Given the description of an element on the screen output the (x, y) to click on. 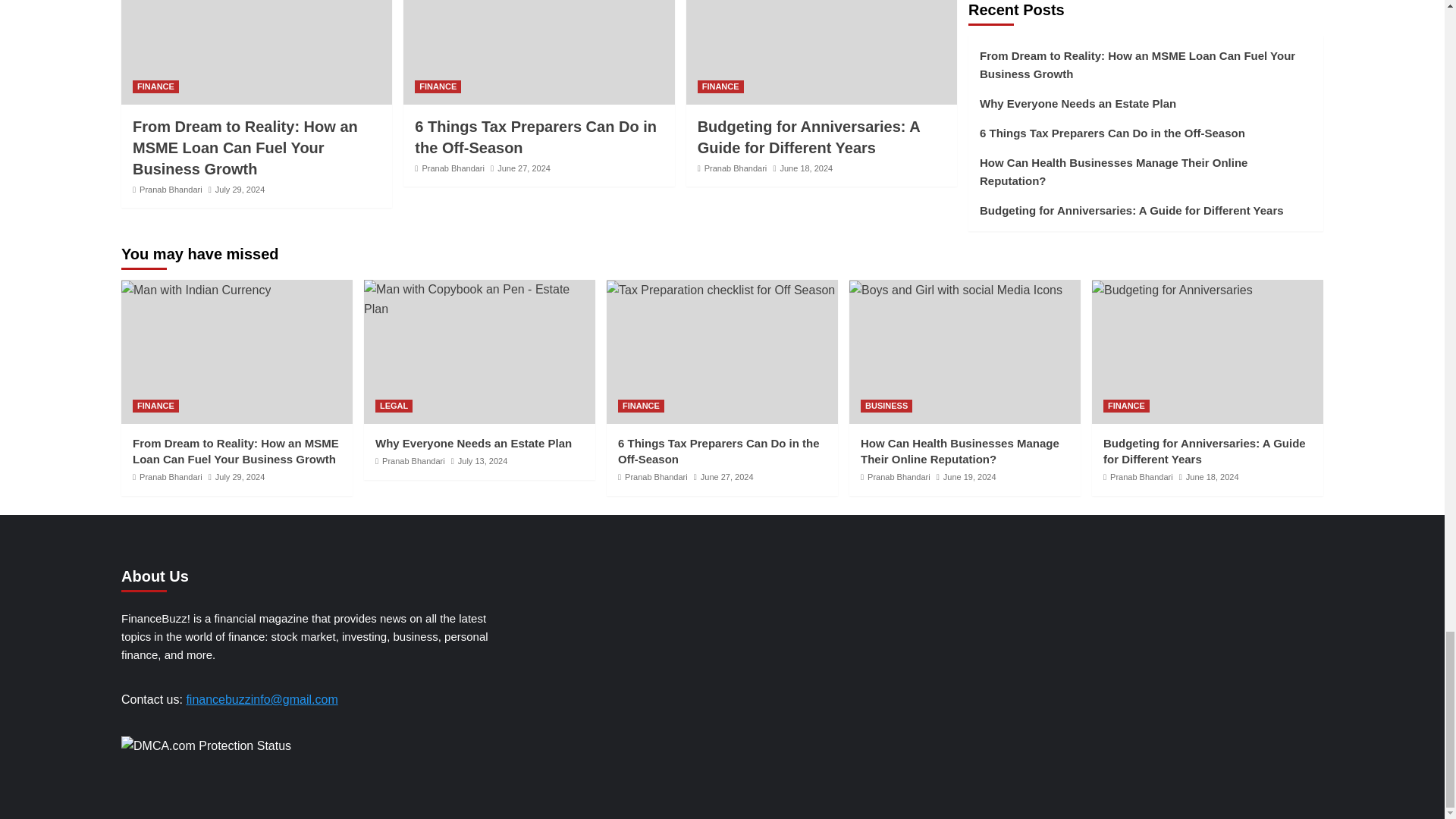
DMCA.com Protection Status (205, 744)
